Given the description of an element on the screen output the (x, y) to click on. 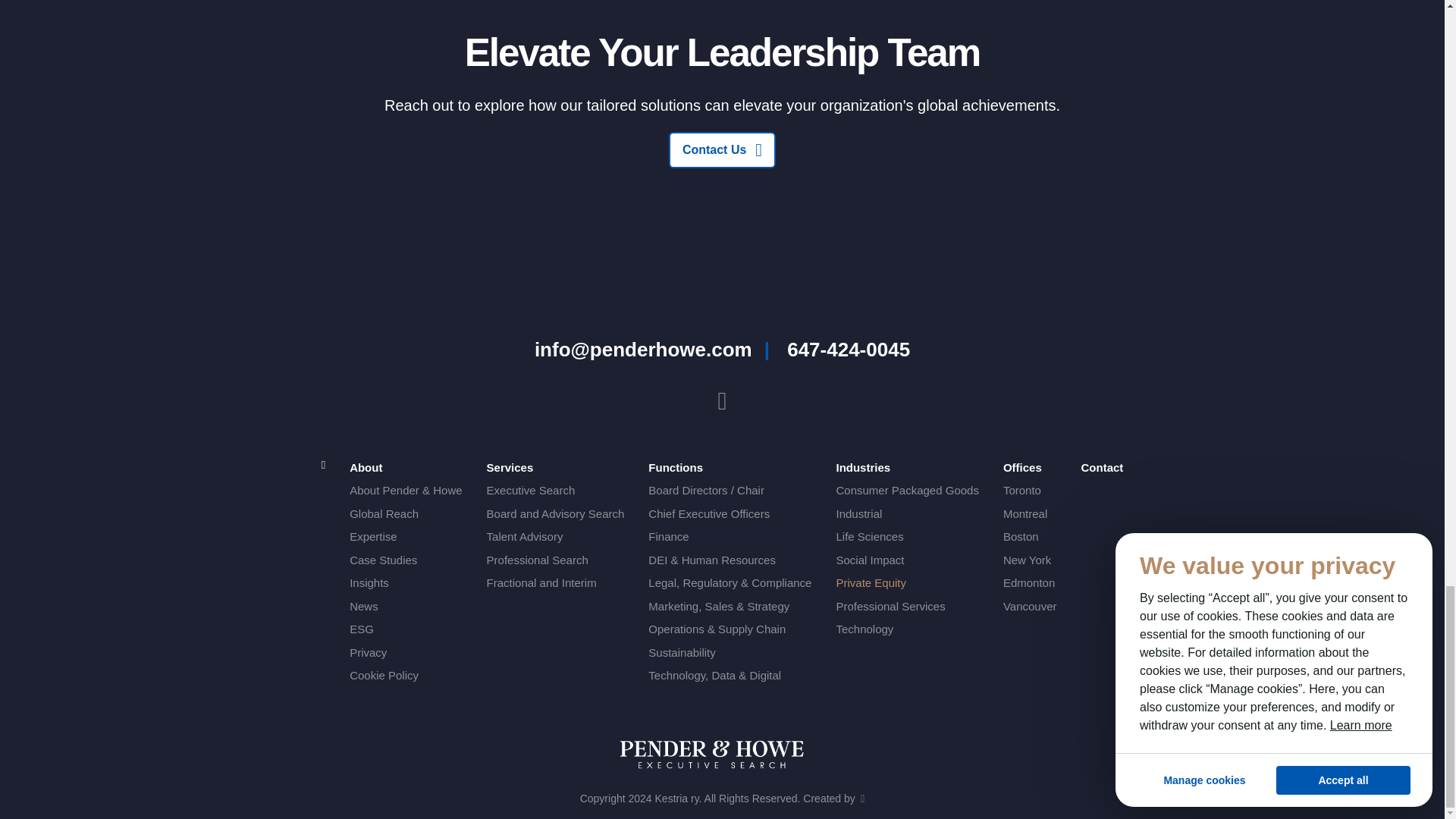
647-424-0045 (848, 349)
Contact Us (722, 149)
